Given the description of an element on the screen output the (x, y) to click on. 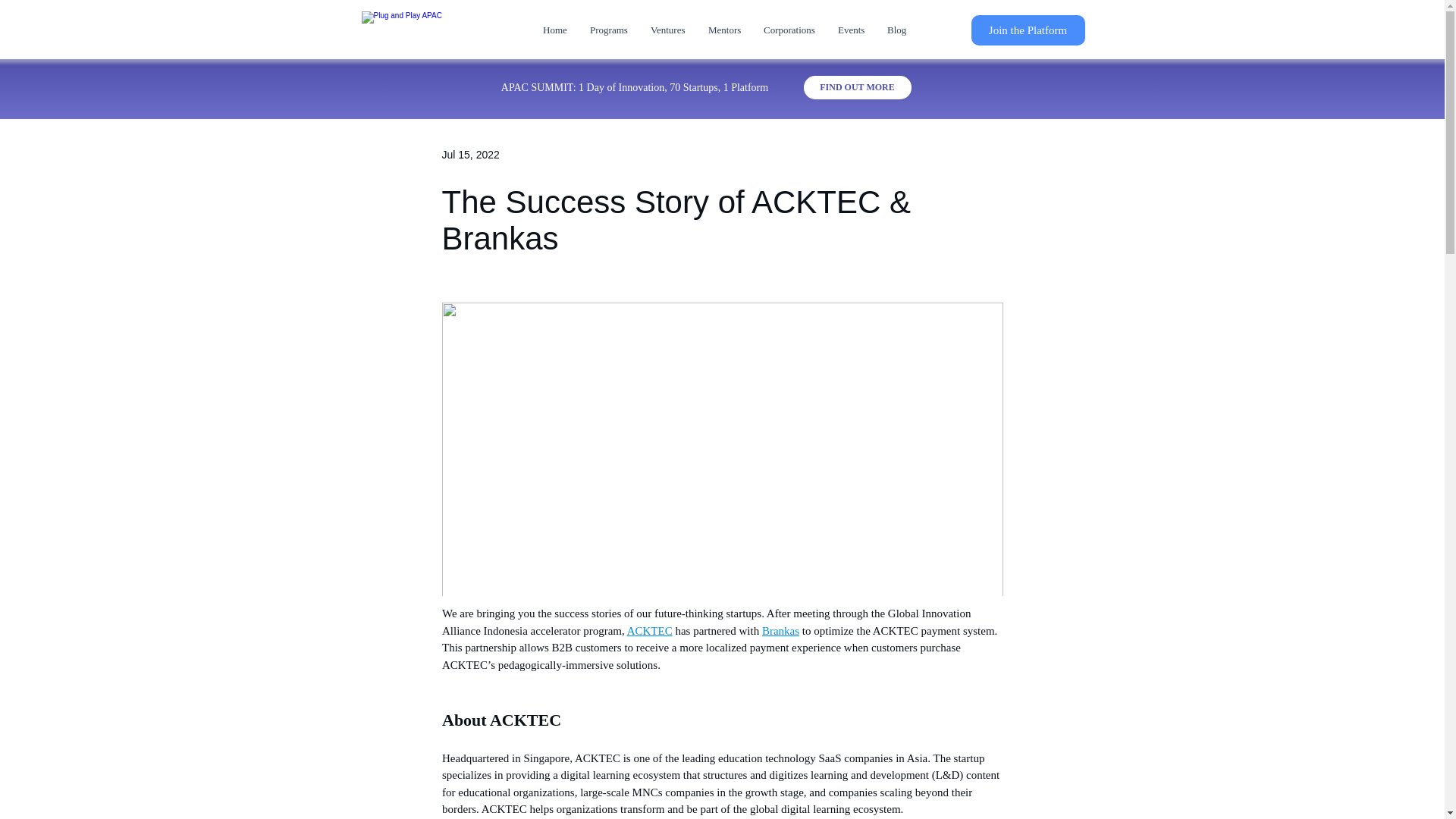
Corporations (789, 30)
Jul 15, 2022 (470, 154)
Events (851, 30)
Mentors (724, 30)
Blog (896, 30)
Programs (608, 30)
Ventures (668, 30)
FIND OUT MORE (857, 87)
Brankas (779, 630)
Home (554, 30)
